Given the description of an element on the screen output the (x, y) to click on. 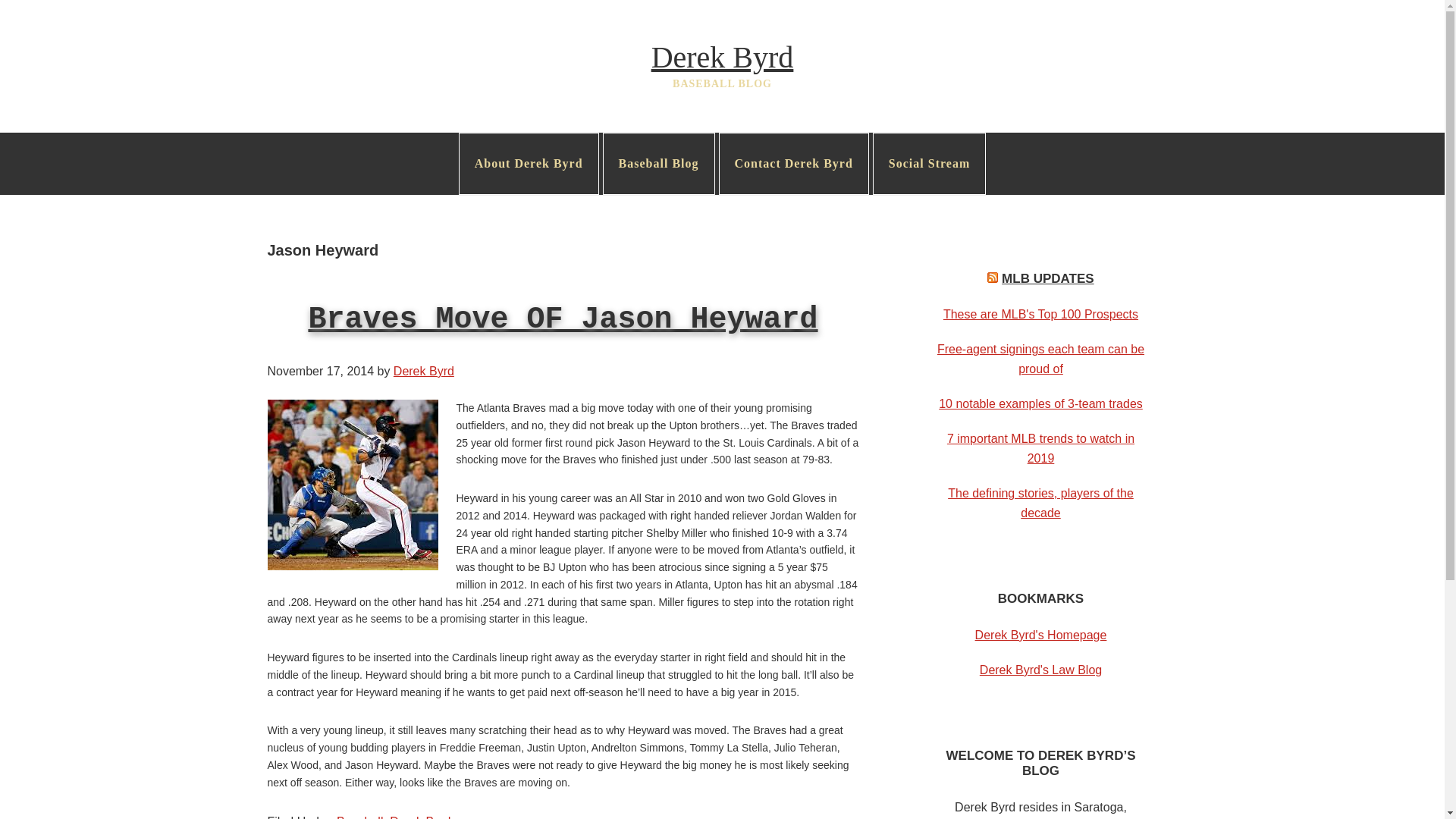
Derek Byrd's Law Blog (1040, 669)
Baseball (359, 816)
7 important MLB trends to watch in 2019 (1040, 448)
Derek Byrd's Homepage (1040, 634)
Free-agent signings each team can be proud of (1040, 359)
The defining stories, players of the decade (1040, 502)
These are MLB's Top 100 Prospects (1040, 314)
Derek Byrd (721, 57)
Social Stream (928, 163)
